Given the description of an element on the screen output the (x, y) to click on. 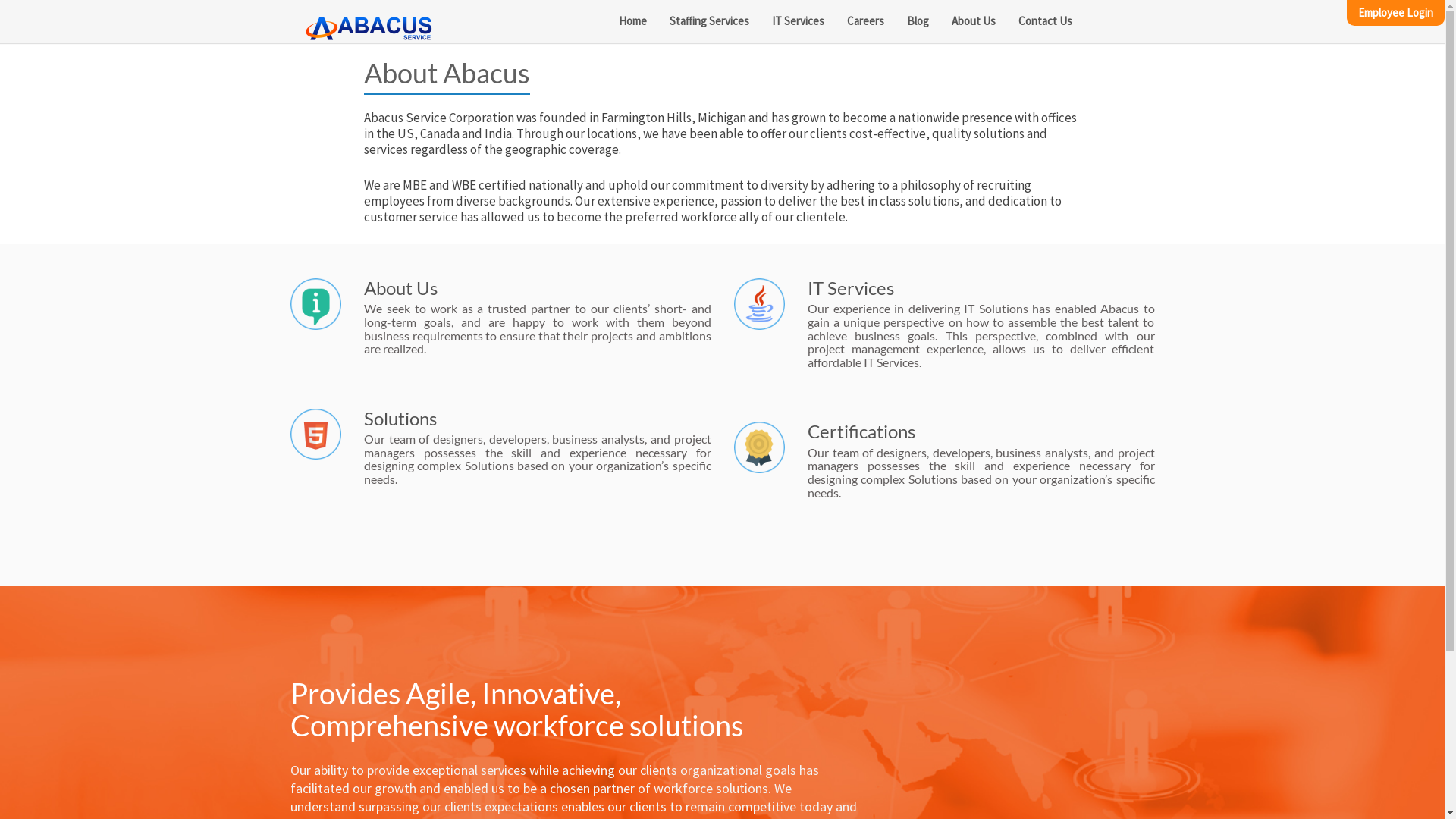
Home Element type: text (631, 20)
About Us Element type: text (973, 20)
Careers Element type: text (865, 20)
Employee Login Element type: text (1395, 12)
Contact Us Element type: text (1045, 20)
IT Services Element type: text (796, 20)
Blog Element type: text (916, 20)
Staffing Services Element type: text (709, 20)
